Given the description of an element on the screen output the (x, y) to click on. 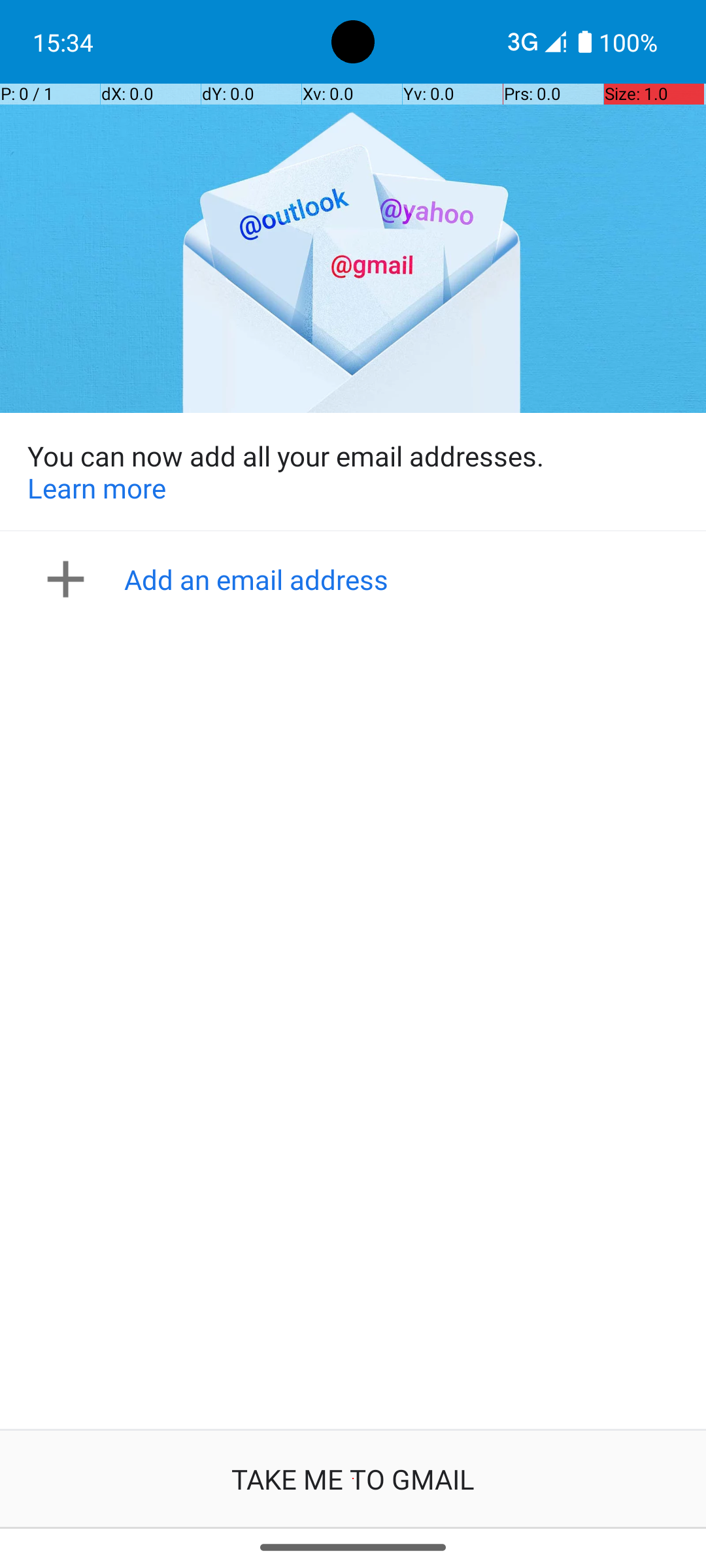
You can now add all your email addresses. Learn more Element type: android.widget.TextView (352, 471)
TAKE ME TO GMAIL Element type: android.widget.TextView (353, 1478)
Add an email address Element type: android.widget.TextView (356, 579)
